Given the description of an element on the screen output the (x, y) to click on. 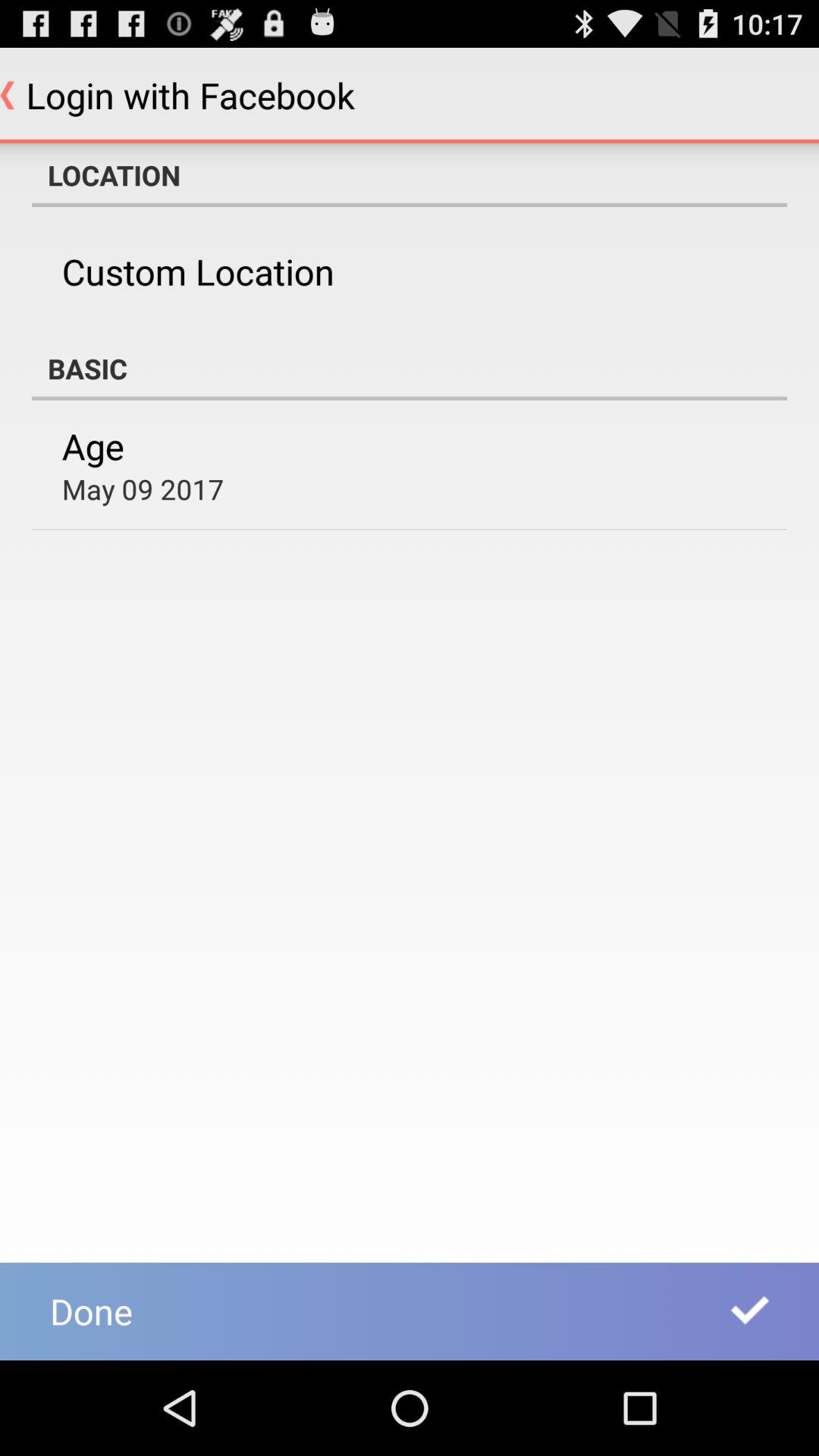
turn on item below the custom location app (409, 368)
